Given the description of an element on the screen output the (x, y) to click on. 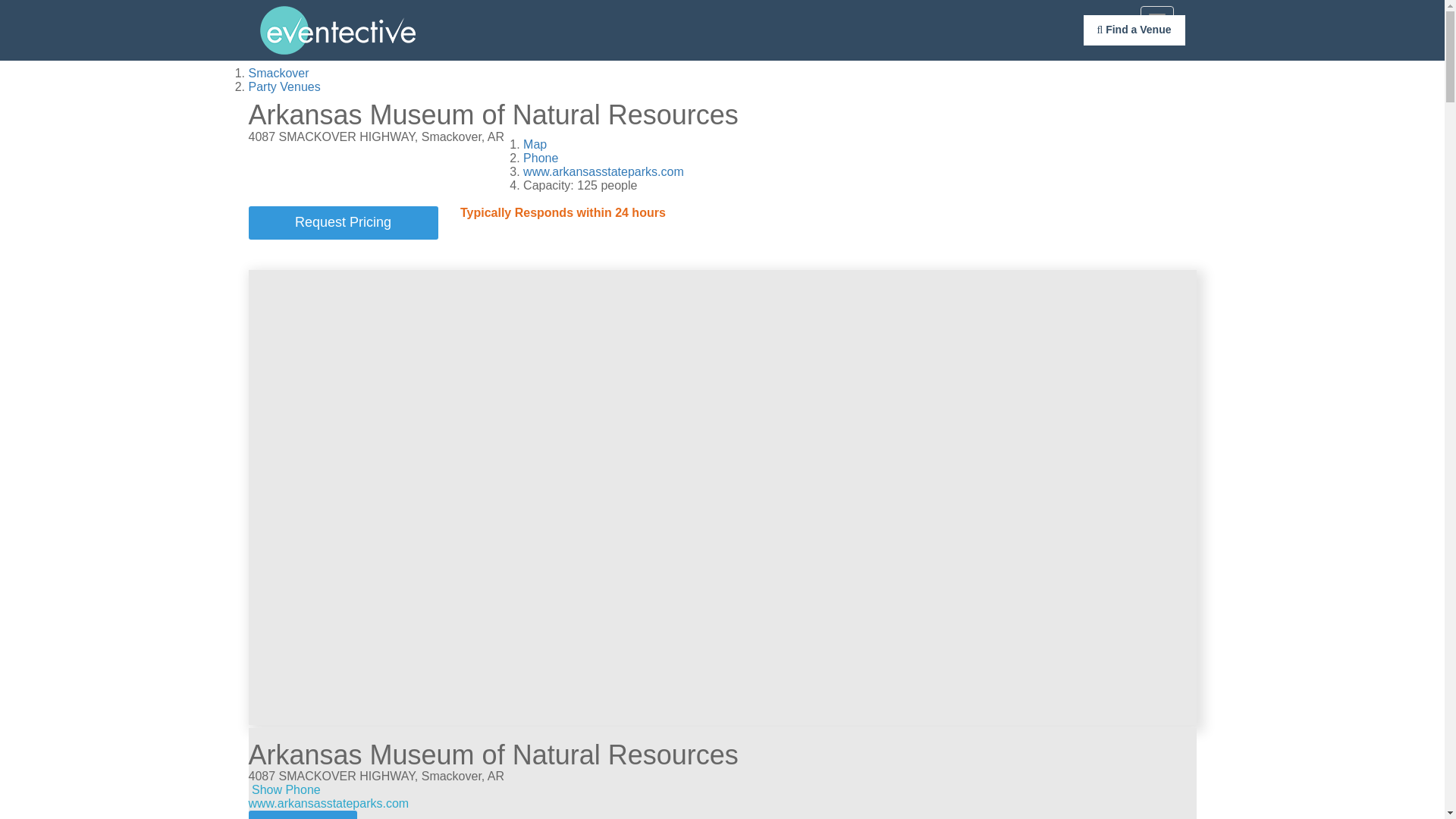
Map (534, 144)
Phone (539, 157)
Request Pricing (343, 222)
Toggle navigation (1156, 18)
Request Pricing (302, 814)
Show Phone (285, 789)
Find a Venue (1134, 30)
Party Venues (284, 86)
www.arkansasstateparks.com (603, 171)
Request Pricing (343, 222)
Smackover (278, 72)
www.arkansasstateparks.com (328, 802)
Request Pricing (302, 814)
